Given the description of an element on the screen output the (x, y) to click on. 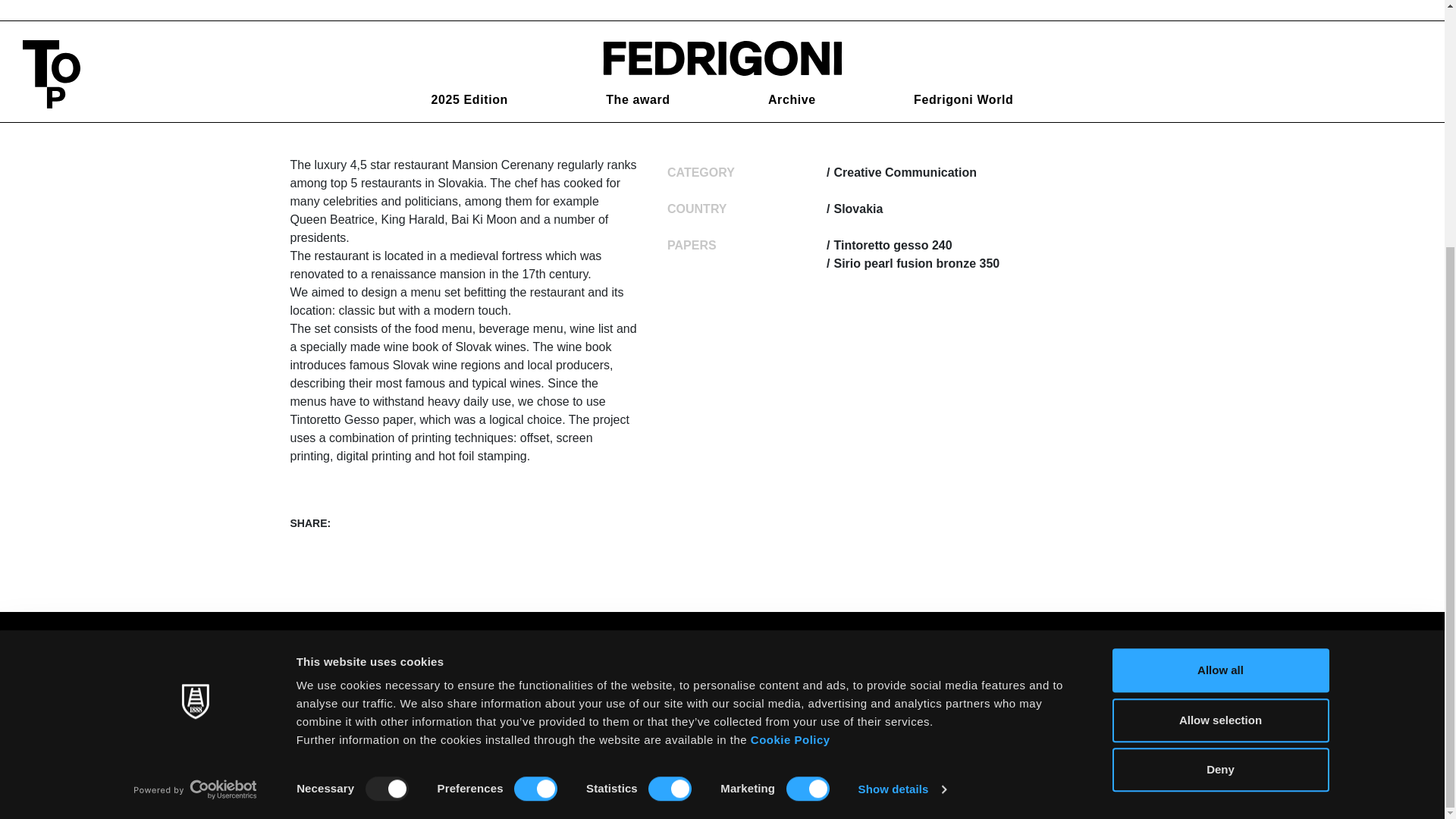
Allow selection (1219, 375)
Show details (900, 445)
Cookie Policy (790, 395)
Allow all (1219, 325)
Deny (1219, 425)
